Given the description of an element on the screen output the (x, y) to click on. 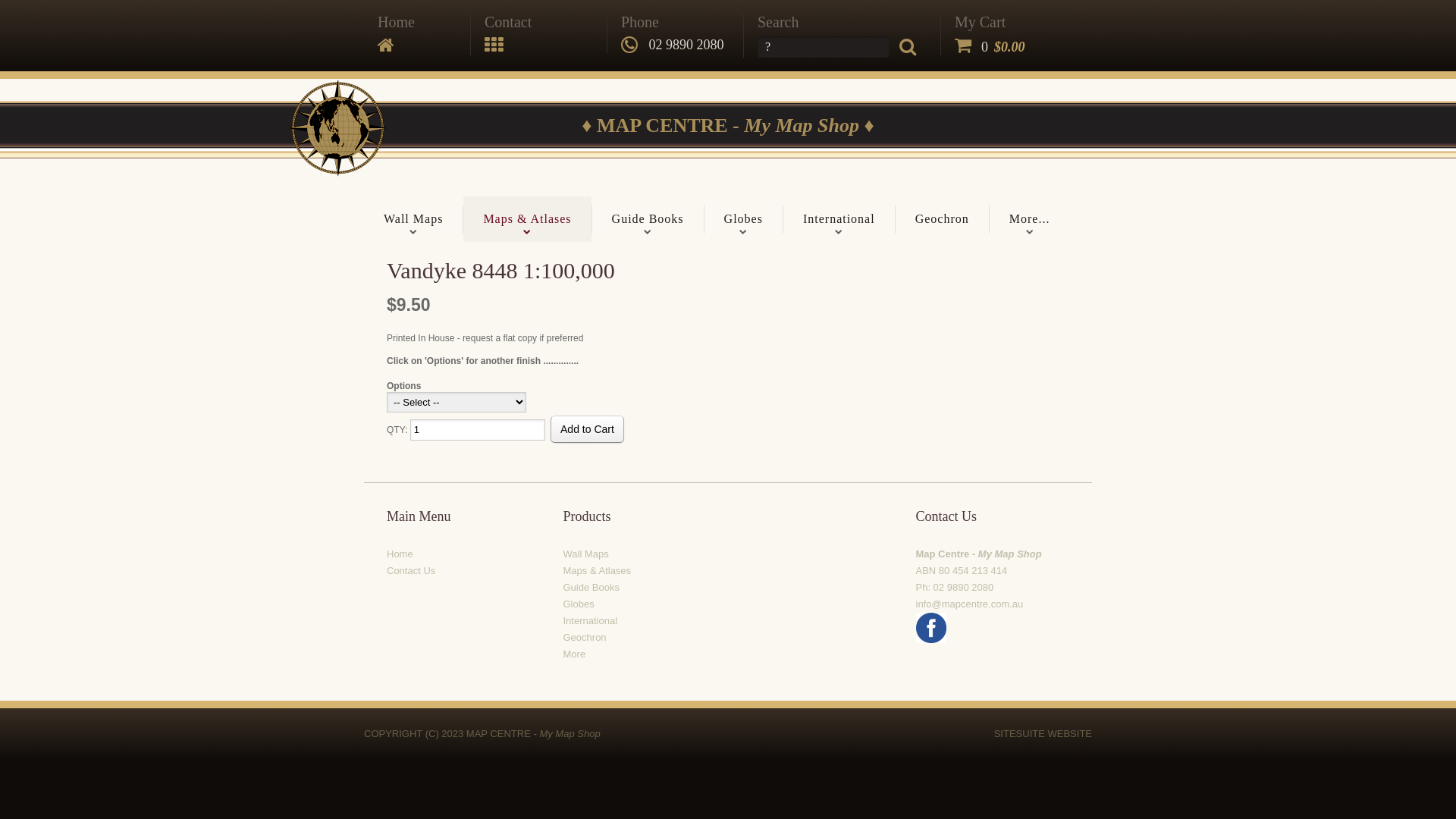
Home Element type: text (395, 21)
info@mapcentre.com.au Element type: text (969, 603)
Phone Element type: text (639, 21)
Contact Element type: text (507, 21)
Geochron Element type: text (583, 637)
International Element type: text (838, 218)
Guide Books Element type: text (647, 218)
Maps & Atlases Element type: text (596, 570)
02 9890 2080 Element type: text (672, 44)
0$0.00 Element type: text (989, 46)
My Cart Element type: text (989, 21)
Guide Books Element type: text (590, 587)
SITESUITE Element type: text (1019, 733)
Geochron Element type: text (941, 218)
More Element type: text (573, 653)
Add to Cart Element type: text (587, 428)
Globes Element type: text (577, 603)
Wall Maps Element type: text (585, 553)
Contact Us Element type: text (410, 570)
Wall Maps Element type: text (413, 218)
International Element type: text (589, 620)
Home Element type: text (399, 553)
More... Element type: text (1029, 218)
Maps & Atlases Element type: text (526, 218)
Globes Element type: text (743, 218)
